Given the description of an element on the screen output the (x, y) to click on. 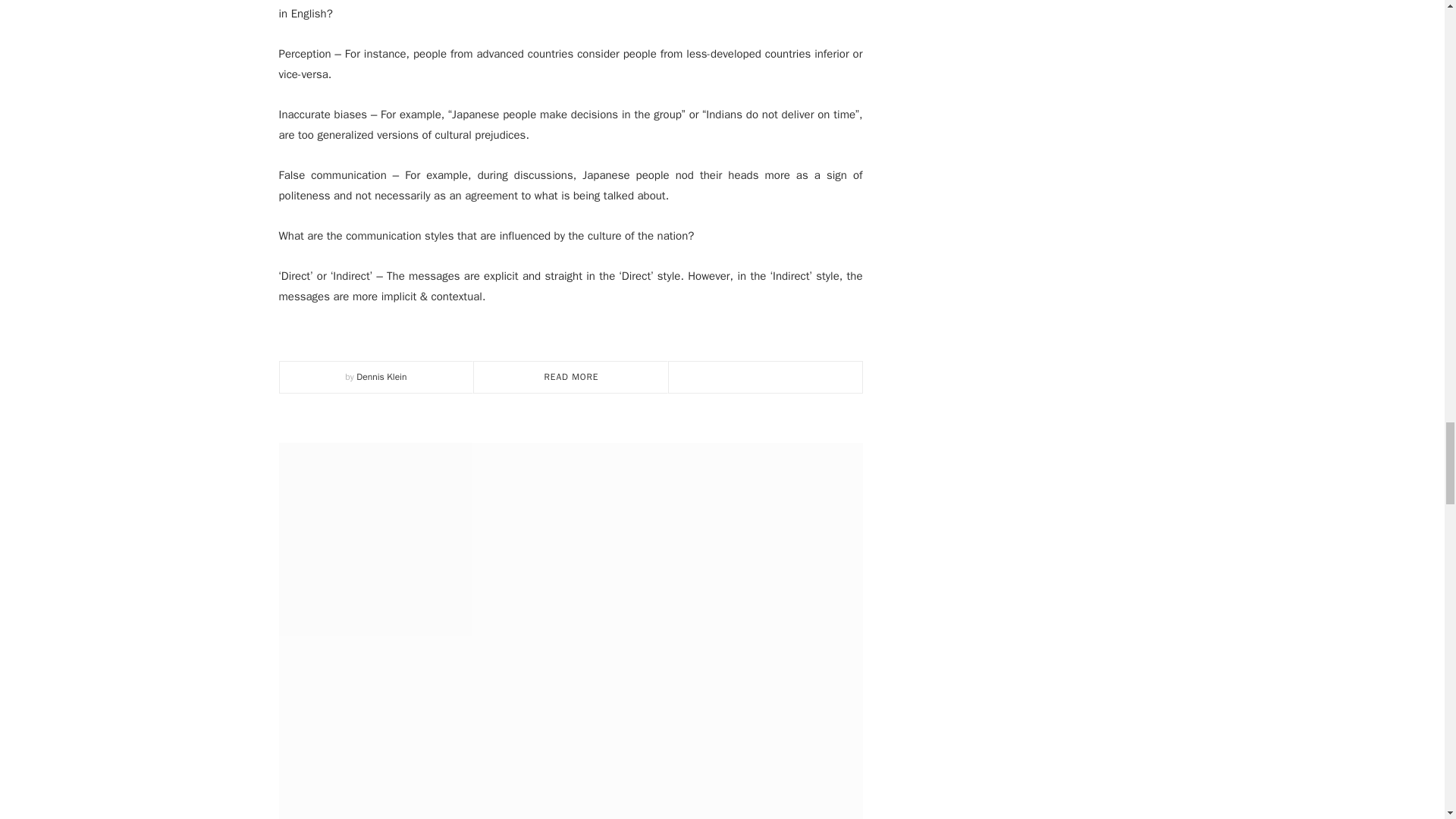
Dennis Klein (381, 377)
READ MORE (571, 377)
Posts by Dennis Klein (381, 377)
